Given the description of an element on the screen output the (x, y) to click on. 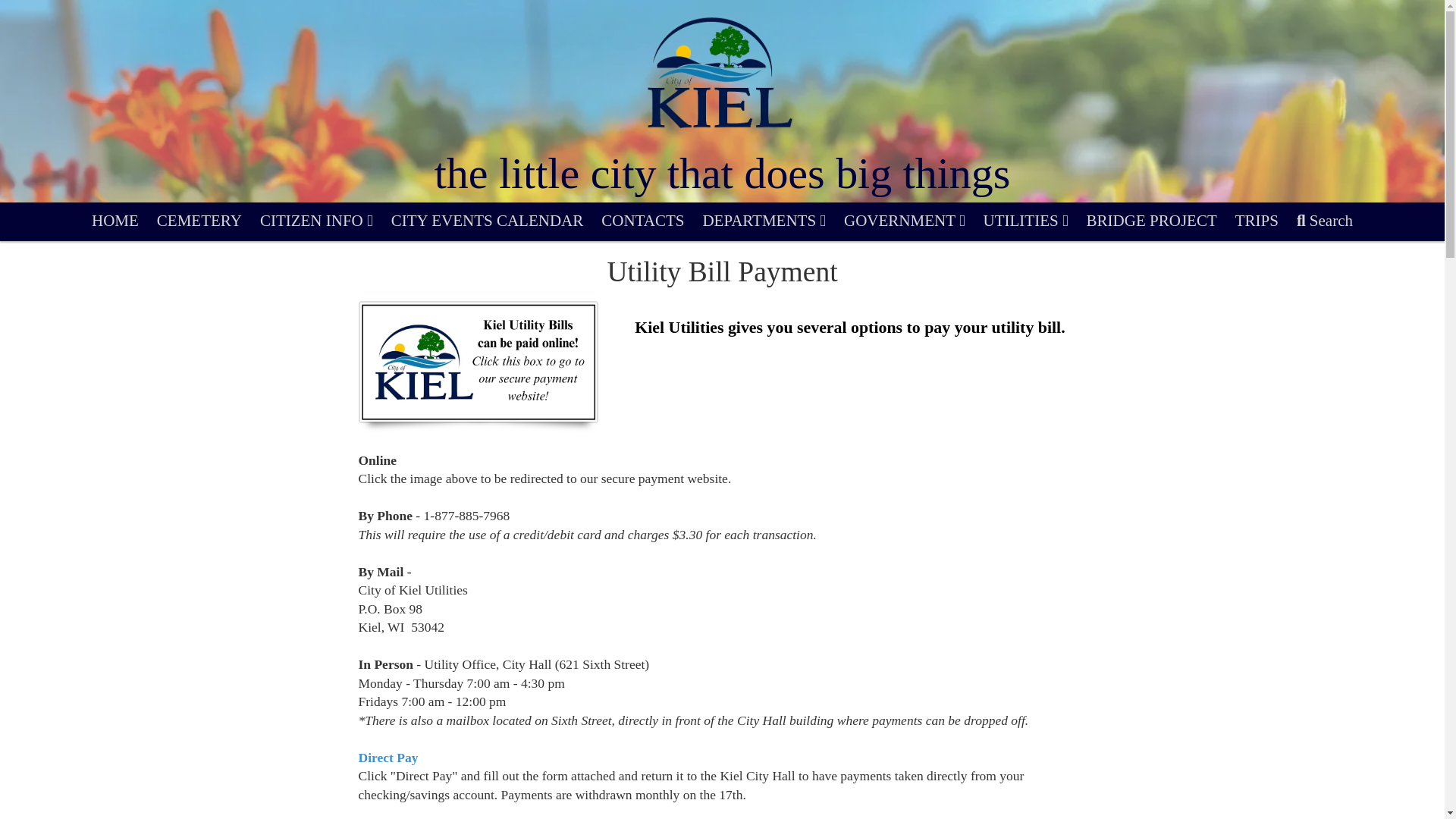
CITY EVENTS CALENDAR (486, 221)
DEPARTMENTS (763, 221)
CEMETERY (199, 221)
the little city that does big things (721, 173)
HOME (115, 221)
CITIZEN INFO (315, 221)
CONTACTS (642, 221)
GOVERNMENT (904, 221)
